Given the description of an element on the screen output the (x, y) to click on. 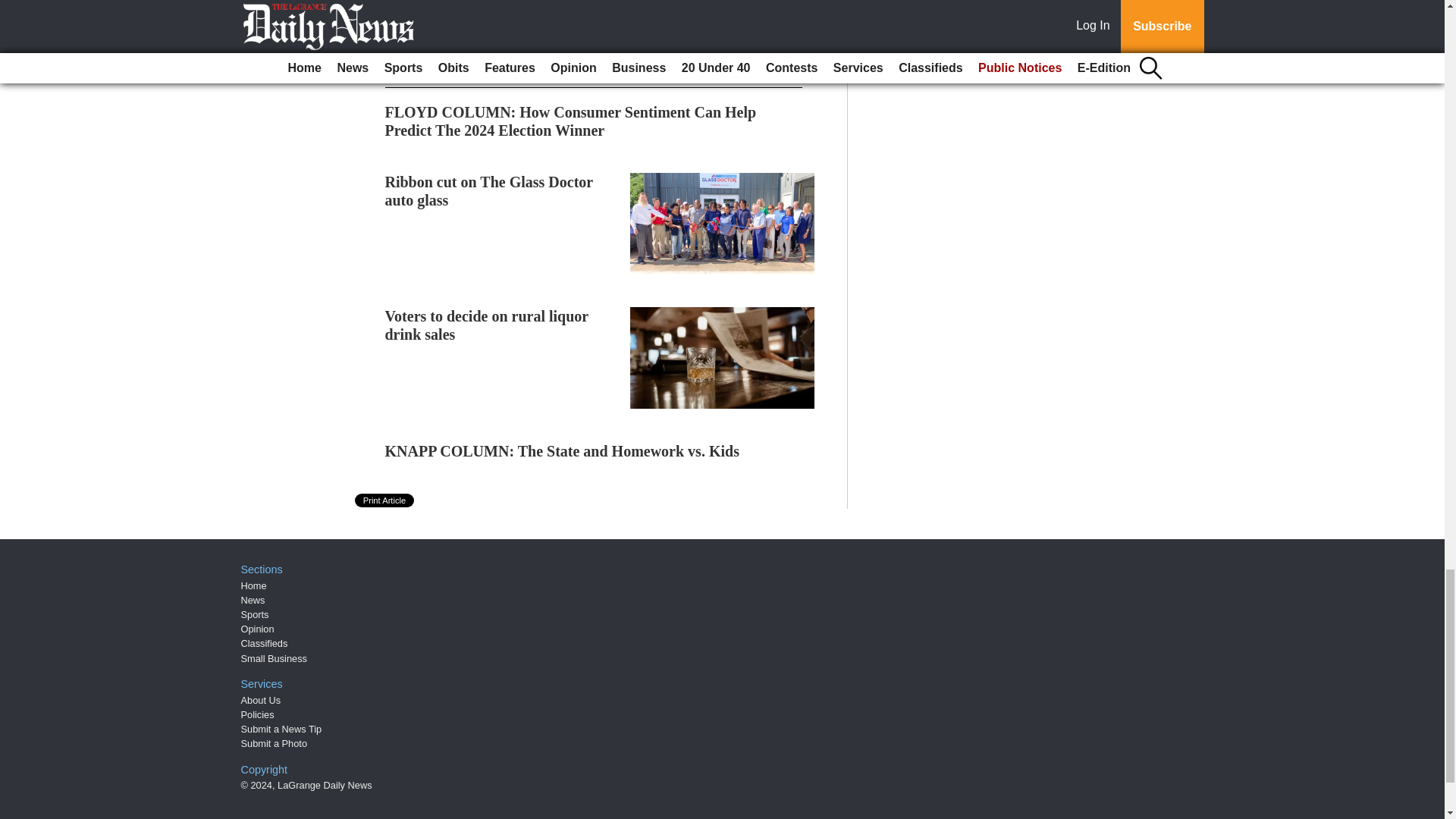
Voters to decide on rural liquor drink sales (486, 325)
Voters to decide on rural liquor drink sales (486, 325)
Sports (255, 614)
Ribbon cut on The Glass Doctor auto glass (488, 190)
Print Article (384, 499)
Home (253, 585)
KNAPP COLUMN: The State and Homework vs. Kids (562, 451)
Ribbon cut on The Glass Doctor auto glass (488, 190)
KNAPP COLUMN: The State and Homework vs. Kids (562, 451)
News (252, 600)
